Given the description of an element on the screen output the (x, y) to click on. 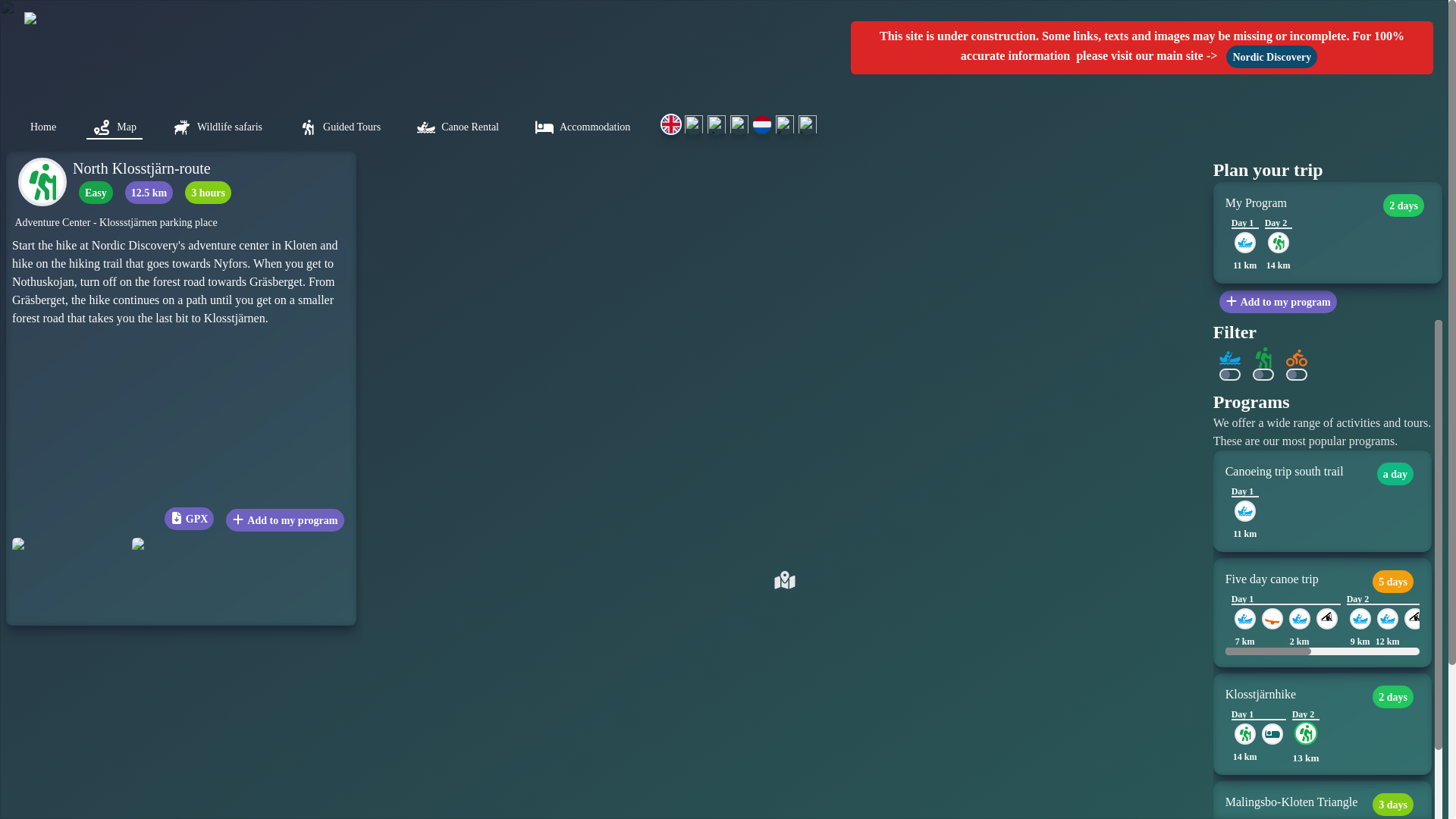
Map (113, 126)
Accommodation (582, 126)
Canoe Rental (457, 126)
Wildlife safaris (217, 126)
es (739, 124)
se (693, 124)
it (806, 124)
Home (43, 126)
gb (670, 124)
Nordic Discovery (1271, 55)
